Given the description of an element on the screen output the (x, y) to click on. 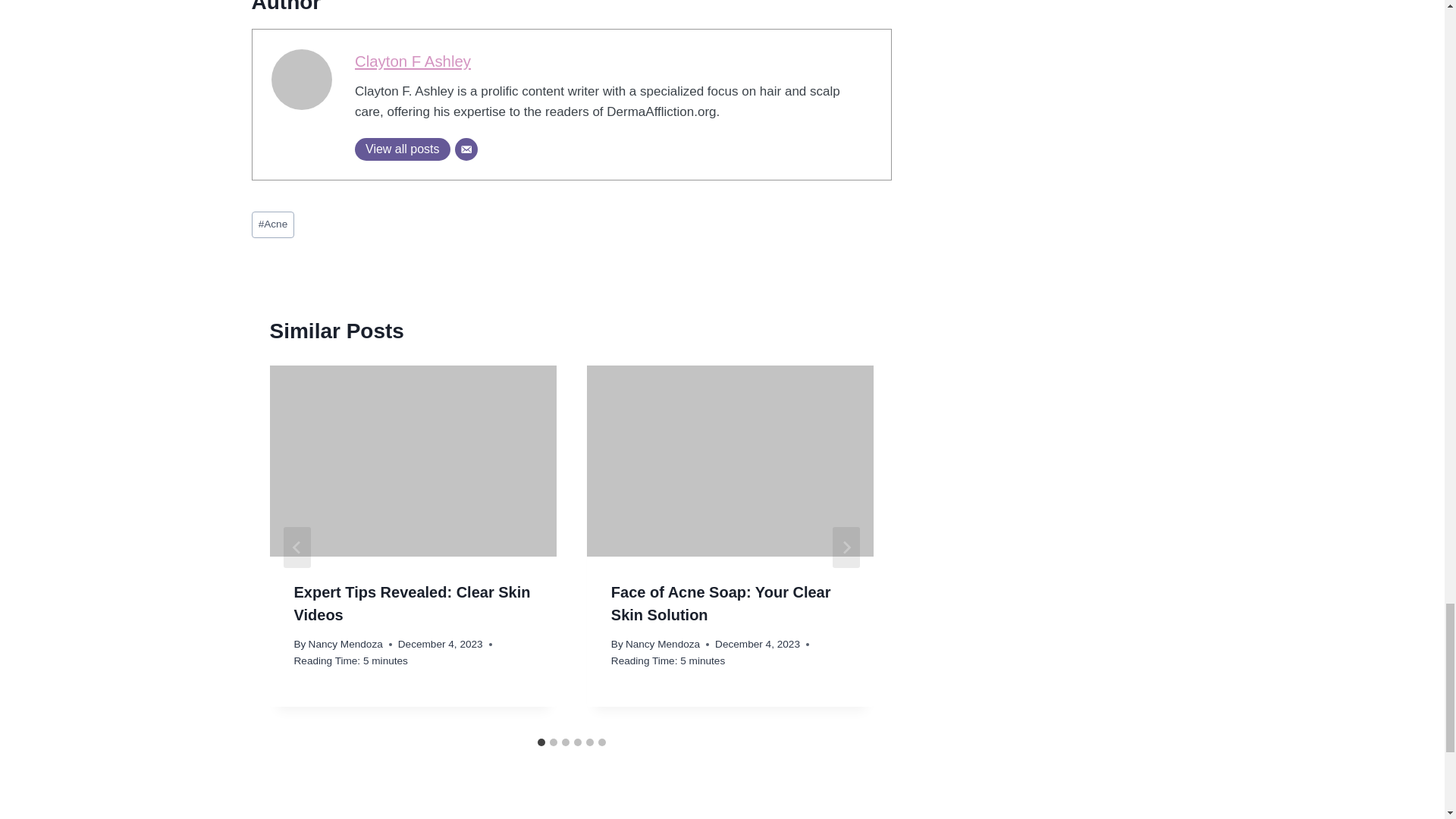
Acne (273, 224)
Clayton F Ashley (412, 61)
View all posts (402, 149)
Nancy Mendoza (345, 644)
Expert Tips Revealed: Clear Skin Videos (412, 603)
Clayton F Ashley (412, 61)
View all posts (402, 149)
